Given the description of an element on the screen output the (x, y) to click on. 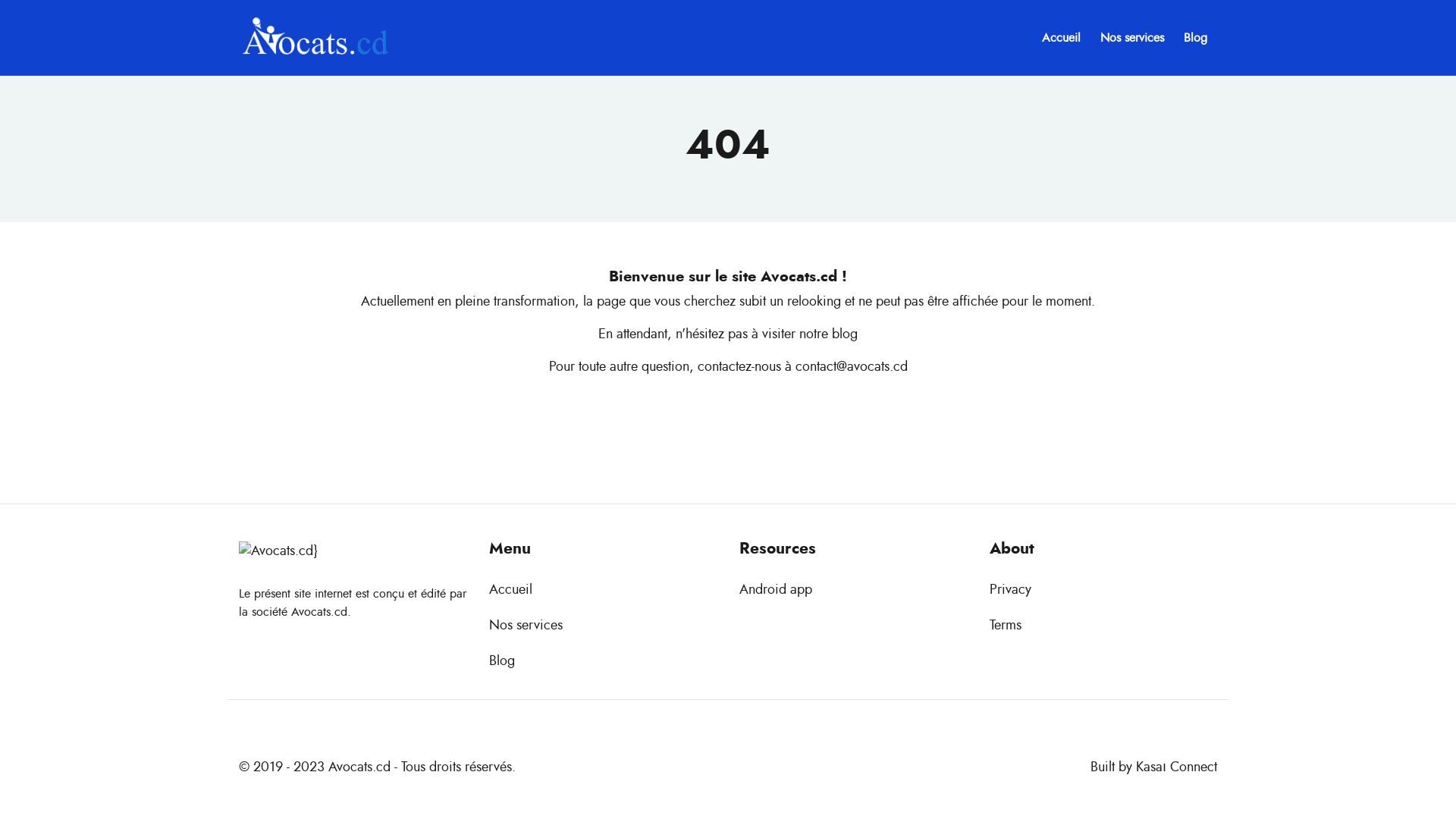
Terms Element type: text (1005, 625)
Android app Element type: text (775, 589)
Accueil Element type: text (1061, 37)
Blog Element type: text (501, 661)
Blog Element type: text (1195, 37)
Nos services Element type: text (1131, 37)
Accueil Element type: text (510, 589)
Nos services Element type: text (525, 625)
Privacy Element type: text (1010, 589)
contact@avocats.cd Element type: text (850, 366)
blog Element type: text (844, 334)
